Given the description of an element on the screen output the (x, y) to click on. 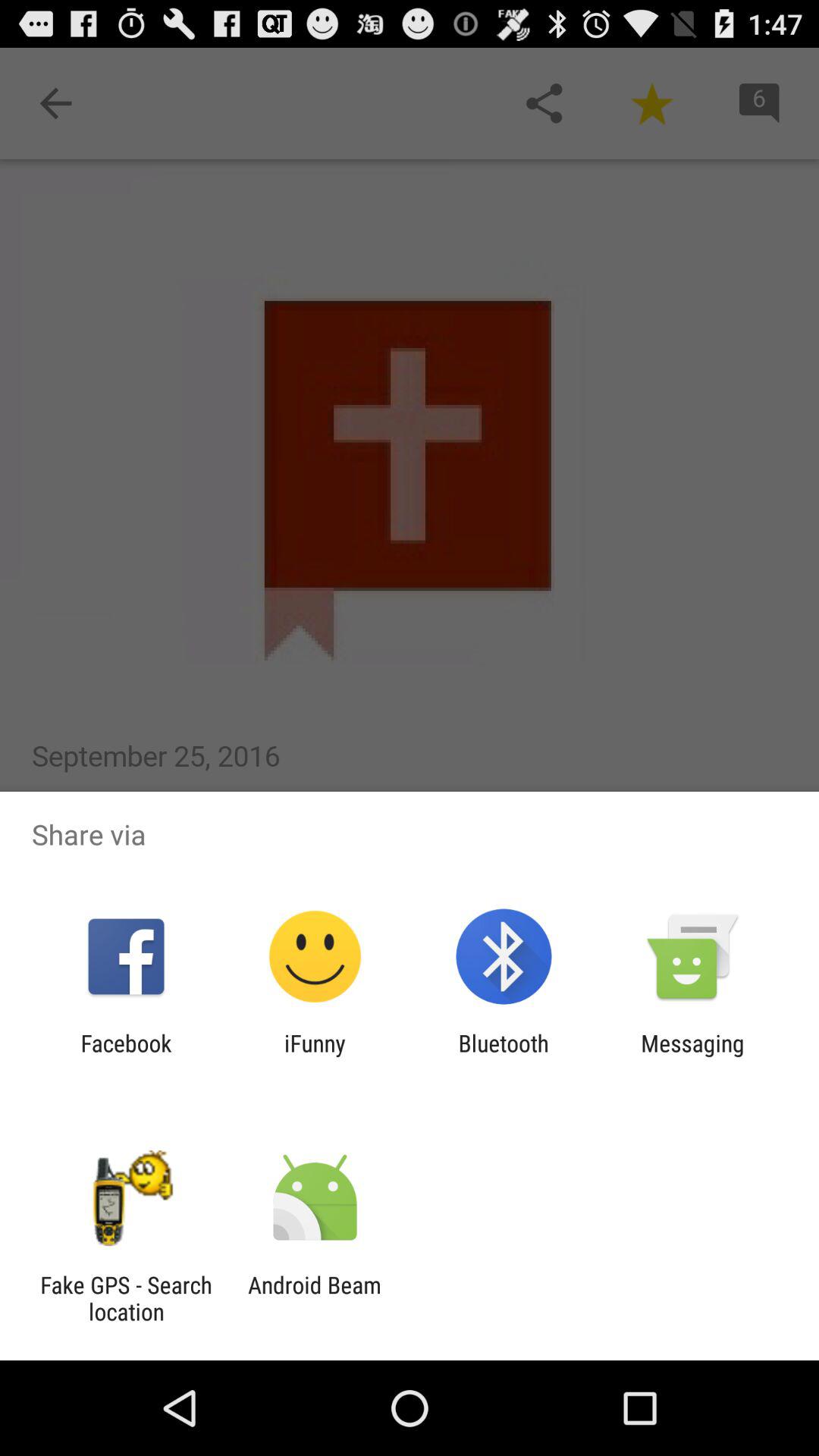
choose icon to the right of facebook app (314, 1056)
